Given the description of an element on the screen output the (x, y) to click on. 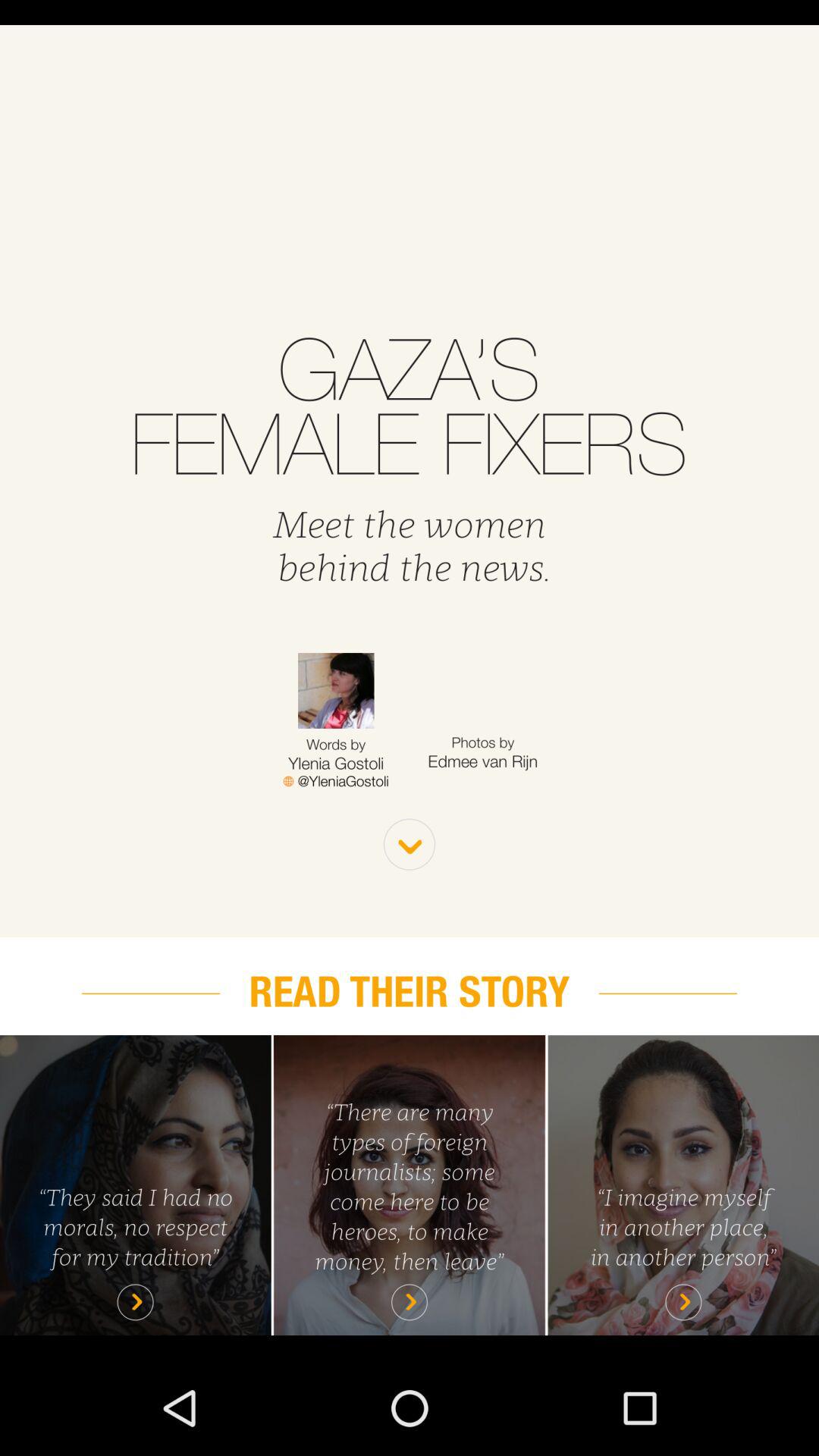
show more (409, 844)
